Given the description of an element on the screen output the (x, y) to click on. 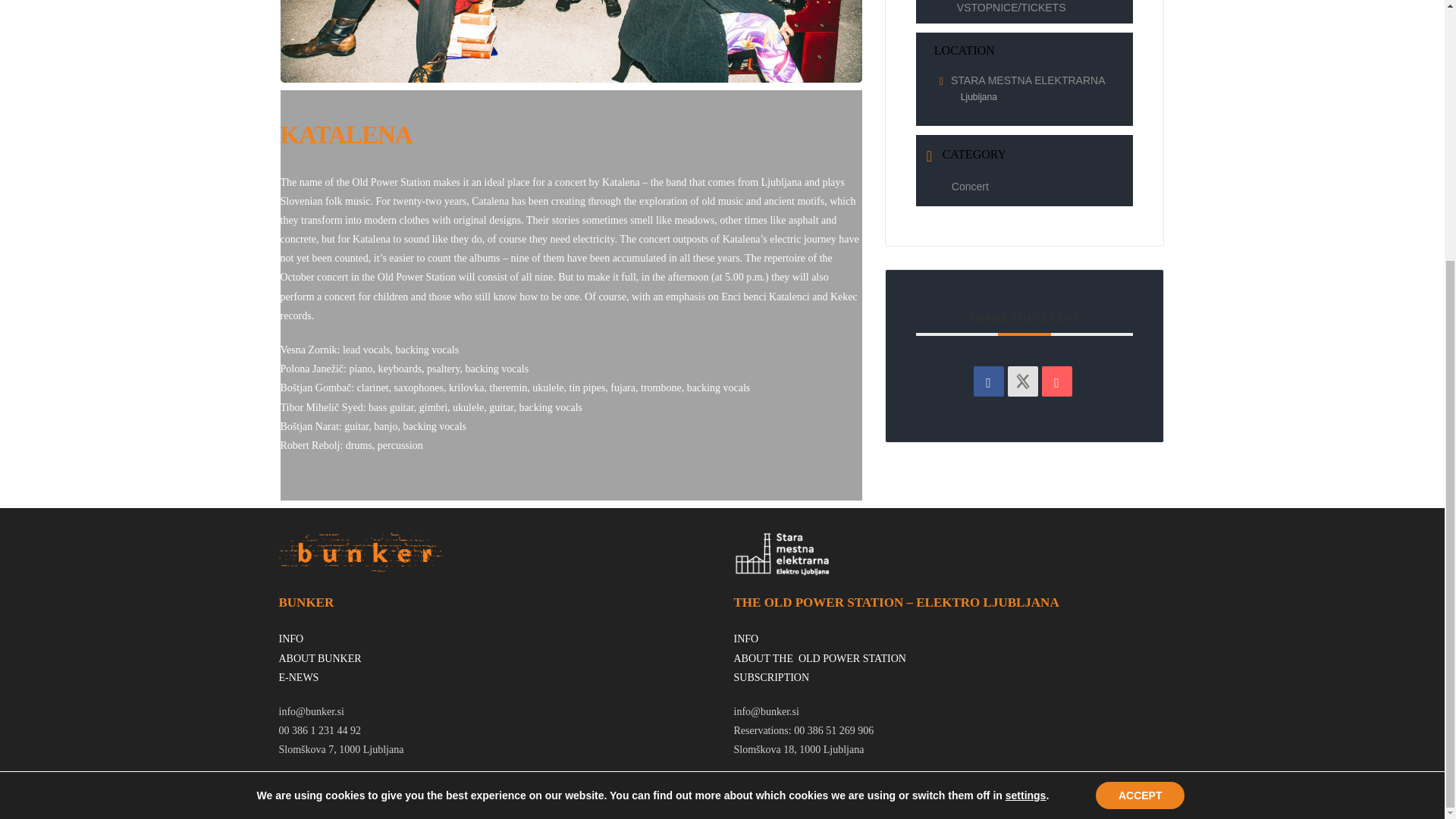
INFO (291, 638)
Email (1056, 381)
ABOUT BUNKER (320, 658)
Concert (966, 186)
E-NEWS (298, 677)
Share on Facebook (989, 381)
X Social Network (1022, 381)
